Given the description of an element on the screen output the (x, y) to click on. 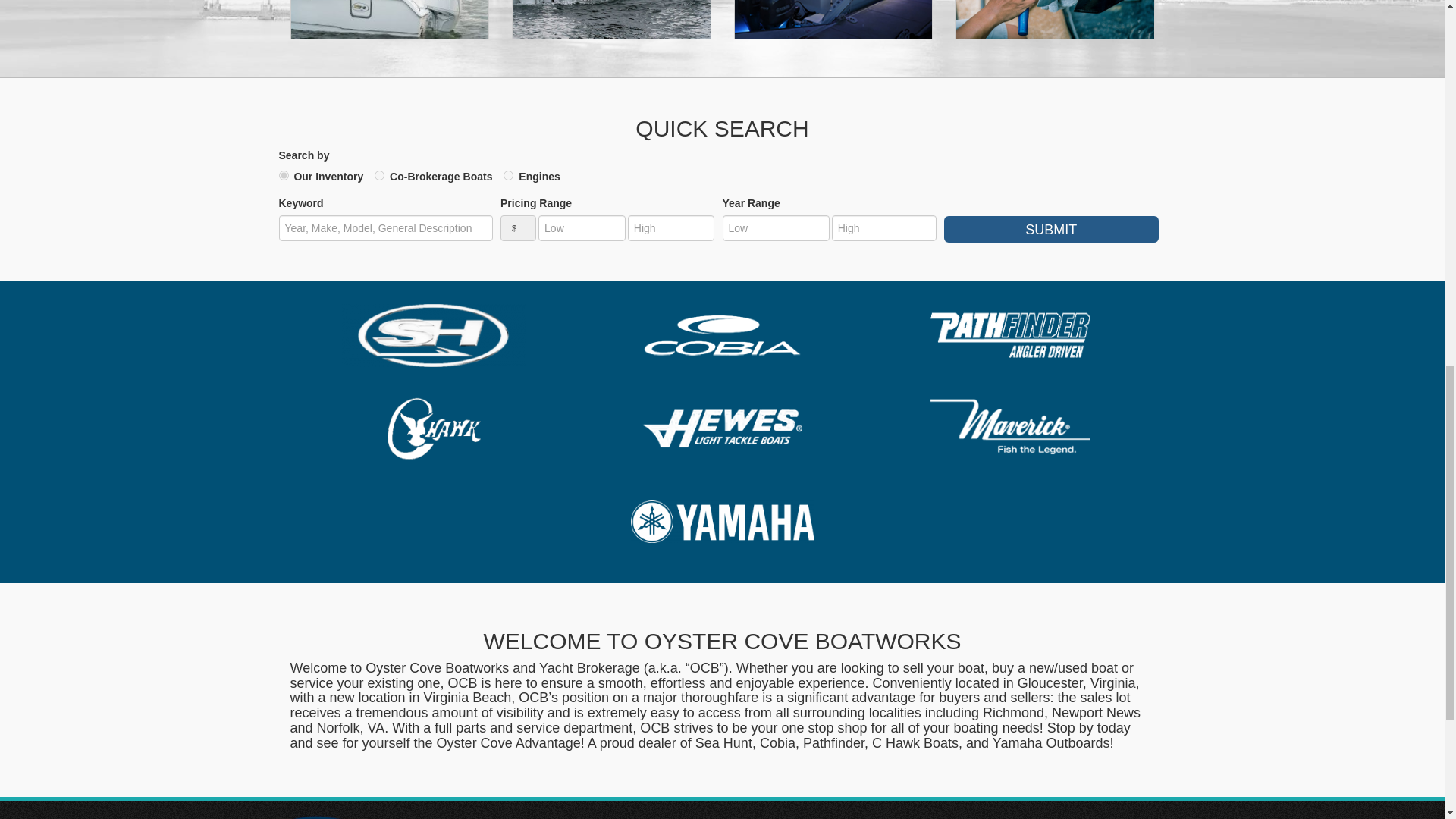
inventory (283, 175)
engines (508, 175)
cobrokerage (379, 175)
cobrokerage (379, 175)
inventory (283, 175)
engines (508, 175)
